Given the description of an element on the screen output the (x, y) to click on. 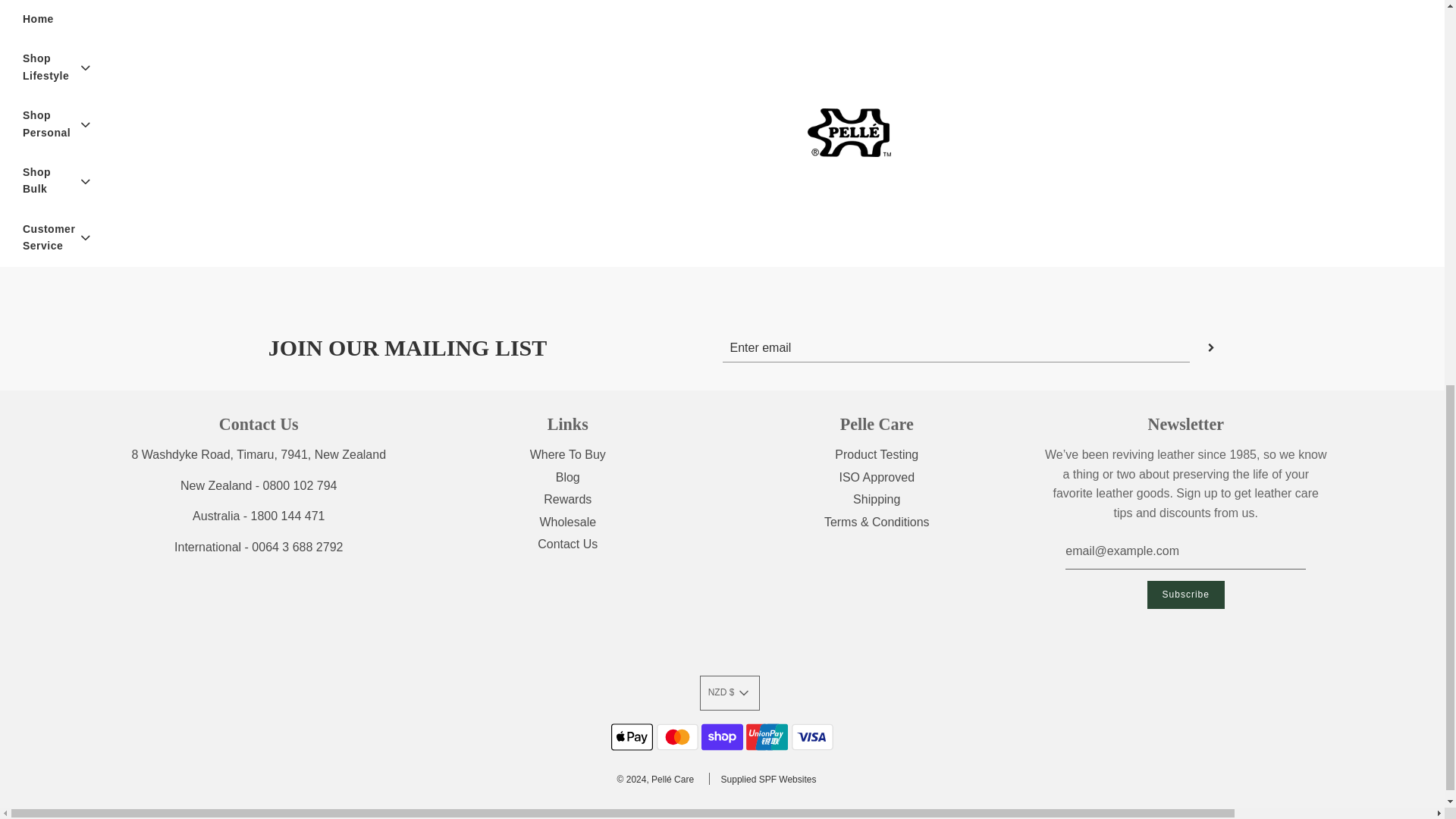
Shop Pay (721, 736)
Visa (812, 736)
SPF (768, 778)
Subscribe (1185, 594)
Mastercard (677, 736)
Apple Pay (631, 736)
Union Pay (766, 736)
